Given the description of an element on the screen output the (x, y) to click on. 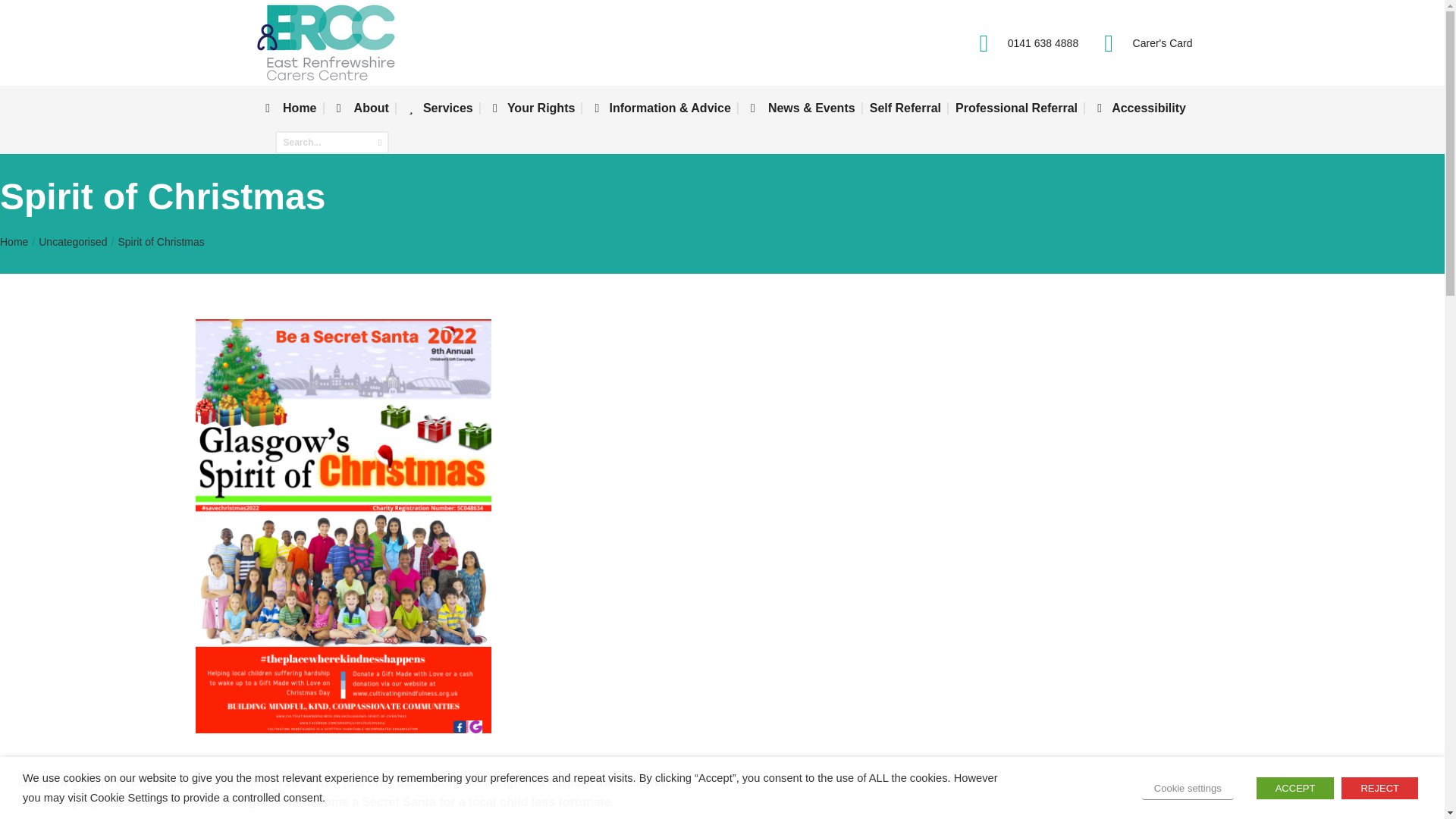
Search form (331, 142)
About (359, 108)
Uncategorised (72, 241)
Home (13, 241)
Go! (24, 18)
Professional Referral (1016, 108)
Services (437, 108)
Accessibility (1139, 108)
Home (288, 108)
Carer's Card (1142, 42)
